Given the description of an element on the screen output the (x, y) to click on. 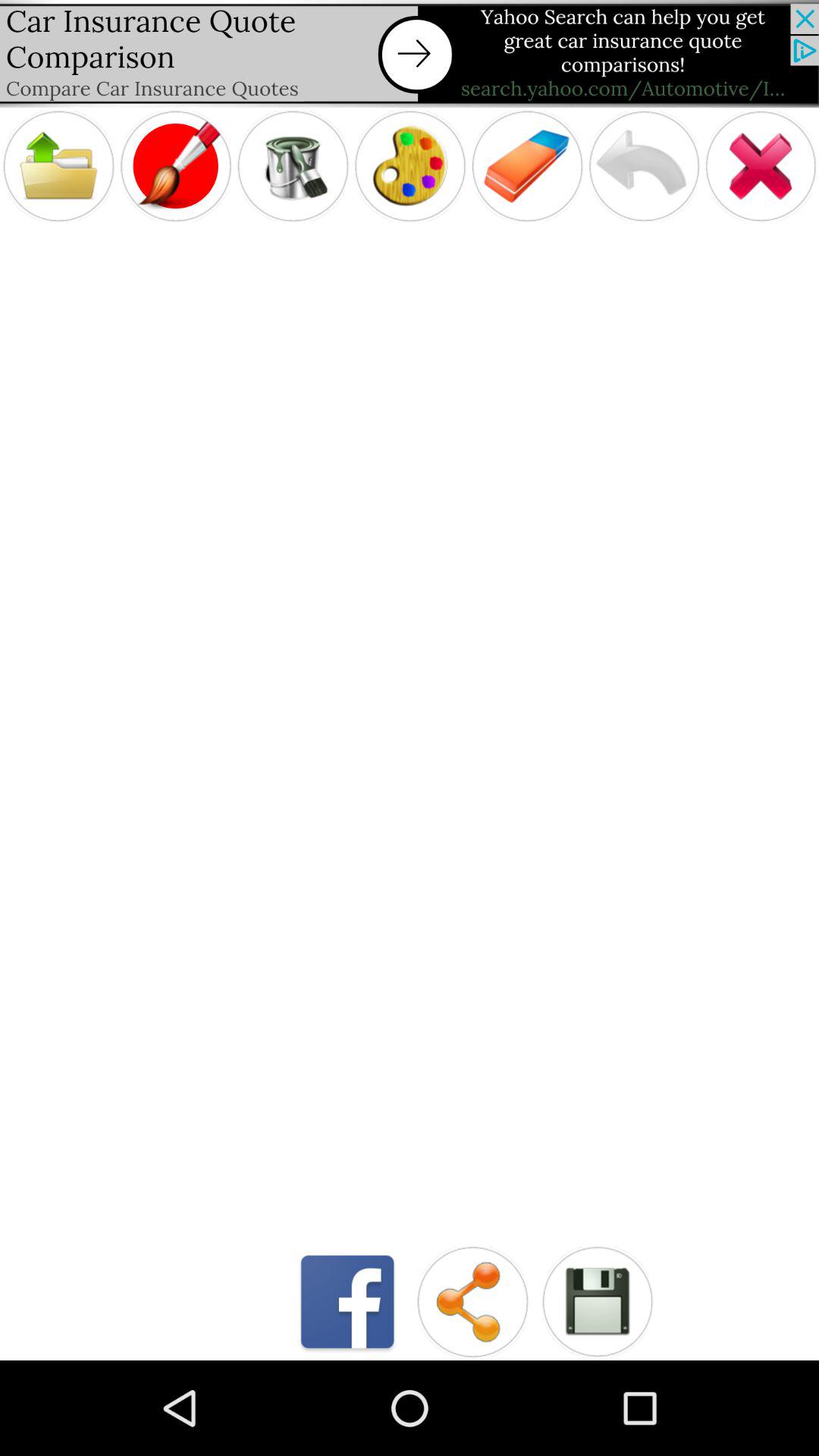
exit menu (760, 165)
